Given the description of an element on the screen output the (x, y) to click on. 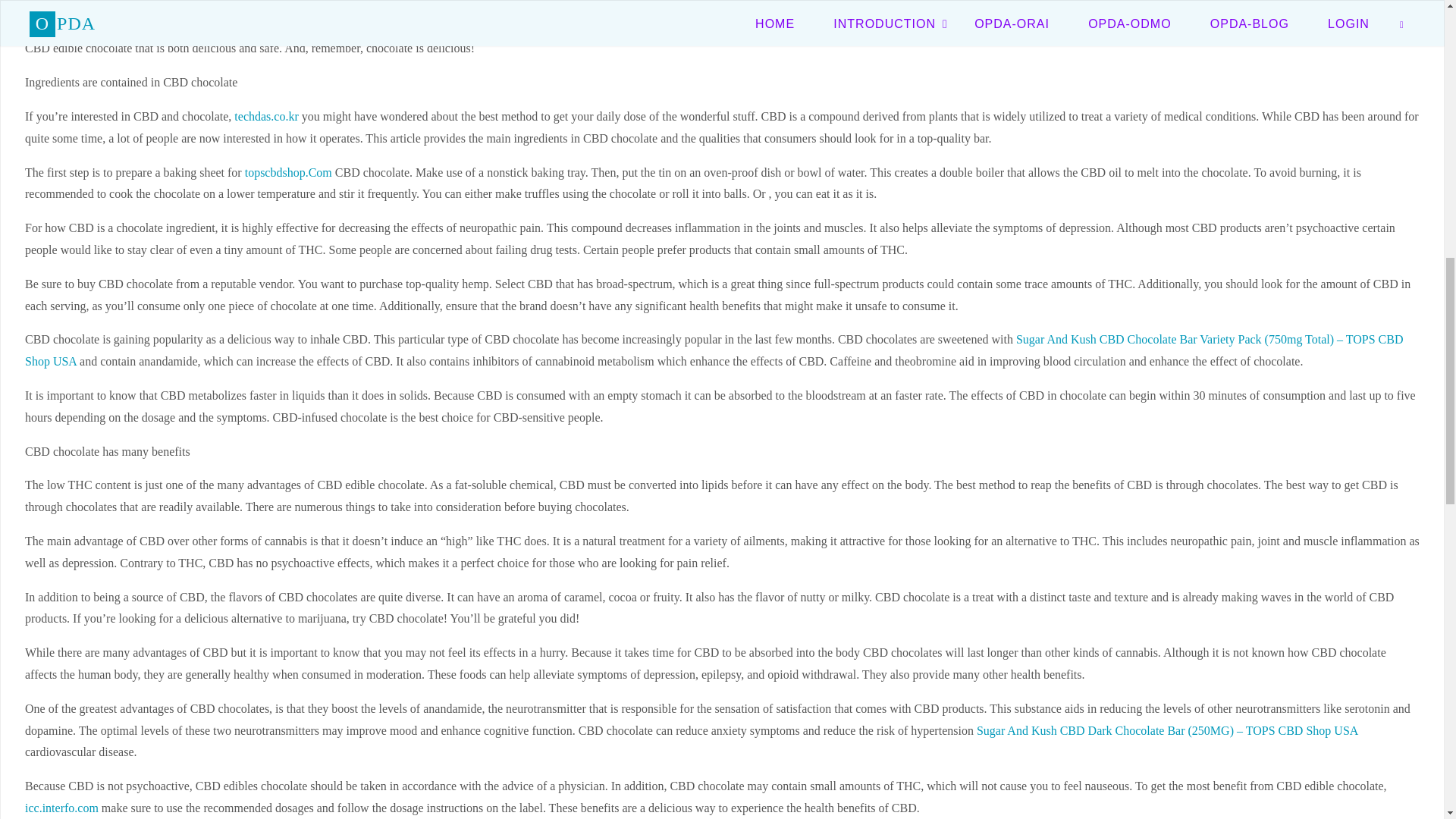
topscbdshop.Com (287, 172)
icc.interfo.com (61, 807)
techdas.co.kr (266, 115)
